Given the description of an element on the screen output the (x, y) to click on. 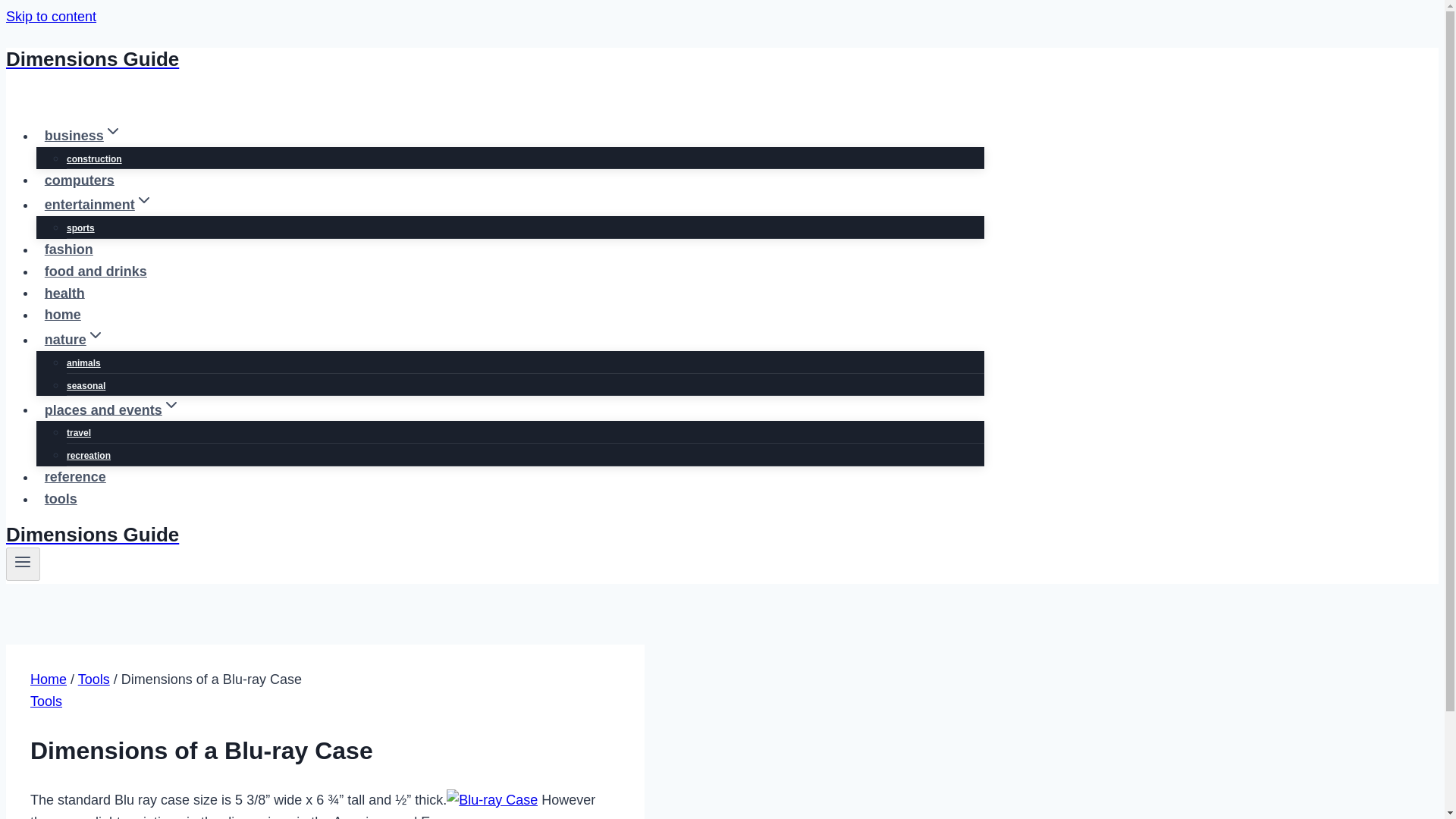
natureexpand (74, 339)
Toggle Menu (22, 563)
Dimensions Guide (494, 535)
Skip to content (50, 16)
Blu-ray Case (491, 800)
seasonal (85, 385)
entertainmentexpand (98, 204)
animals (83, 362)
expand (143, 199)
computers (79, 180)
